Given the description of an element on the screen output the (x, y) to click on. 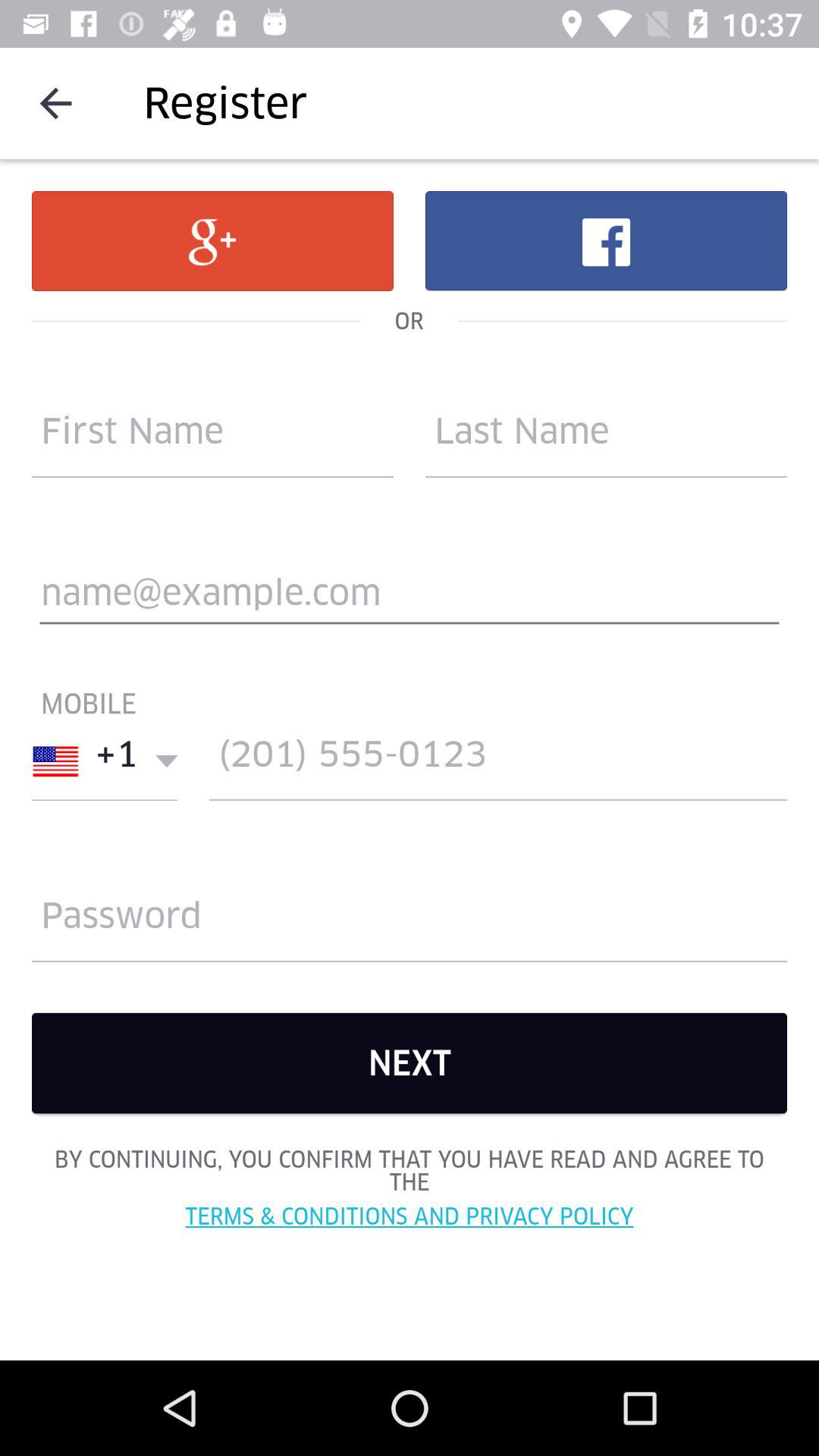
mail address (409, 599)
